Given the description of an element on the screen output the (x, y) to click on. 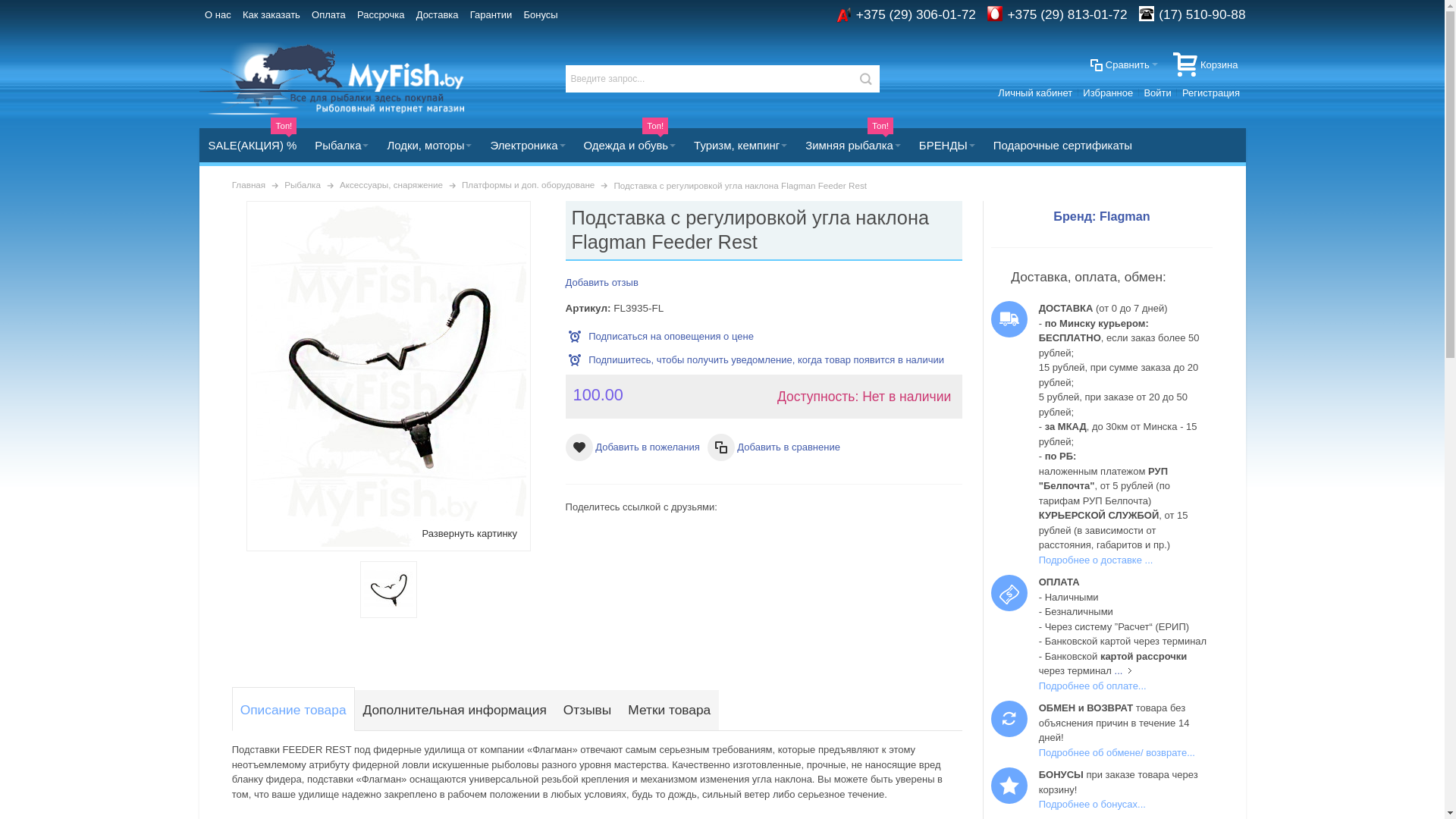
... Element type: text (1124, 670)
(17) 510-90-88 Element type: text (1201, 13)
+375 (29) 813-01-72 Element type: text (1066, 13)
+375 (29) 306-01-72 Element type: text (915, 13)
